Given the description of an element on the screen output the (x, y) to click on. 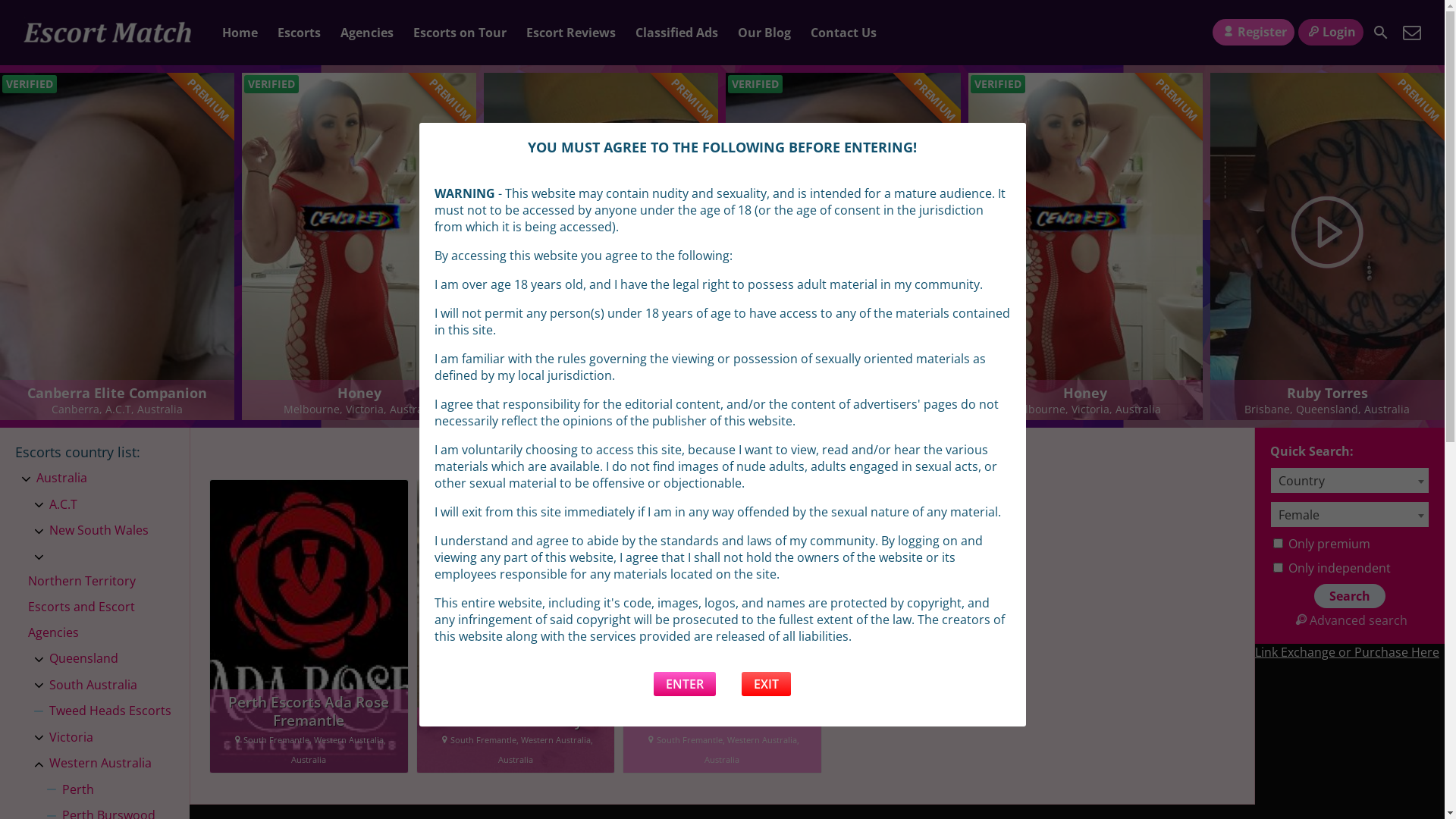
Register Element type: text (1252, 31)
Escorts on Tour Element type: text (459, 32)
PREMIUM
VERIFIED
Honey
Melbourne, Victoria, Australia Element type: text (601, 246)
Search Element type: text (1349, 595)
PREMIUM
Ruby Torres
Brisbane, Queensland, Australia Element type: text (117, 246)
A.C.T Element type: text (63, 504)
New South Wales Element type: text (98, 530)
Home Element type: text (239, 32)
Tweed Heads Escorts Element type: text (110, 711)
Australia Element type: text (61, 478)
Victoria Element type: text (71, 737)
Classified Ads Element type: text (676, 32)
Escort Reviews Element type: text (570, 32)
Perth Element type: text (78, 790)
Contact Us Element type: text (843, 32)
Link Exchange or Purchase Here Element type: text (1347, 651)
Login Element type: text (1330, 31)
Contact Us Element type: hover (1411, 32)
Northern Territory Escorts and Escort Agencies Element type: text (101, 606)
Agencies Element type: text (366, 32)
Our Blog Element type: text (764, 32)
South Australia Element type: text (93, 685)
PREMIUM
VERIFIED
Honey
Melbourne, Victoria, Australia Element type: text (1327, 246)
Escorts Element type: text (298, 32)
Advanced search Element type: text (1349, 619)
PREMIUM
Ruby Torres
Brisbane, Queensland, Australia Element type: text (843, 246)
Western Australia Element type: text (100, 763)
Queensland Element type: text (83, 658)
Adarose
South Fremantle, Western Australia, Australia Element type: text (722, 626)
Search Element type: hover (1380, 32)
